Given the description of an element on the screen output the (x, y) to click on. 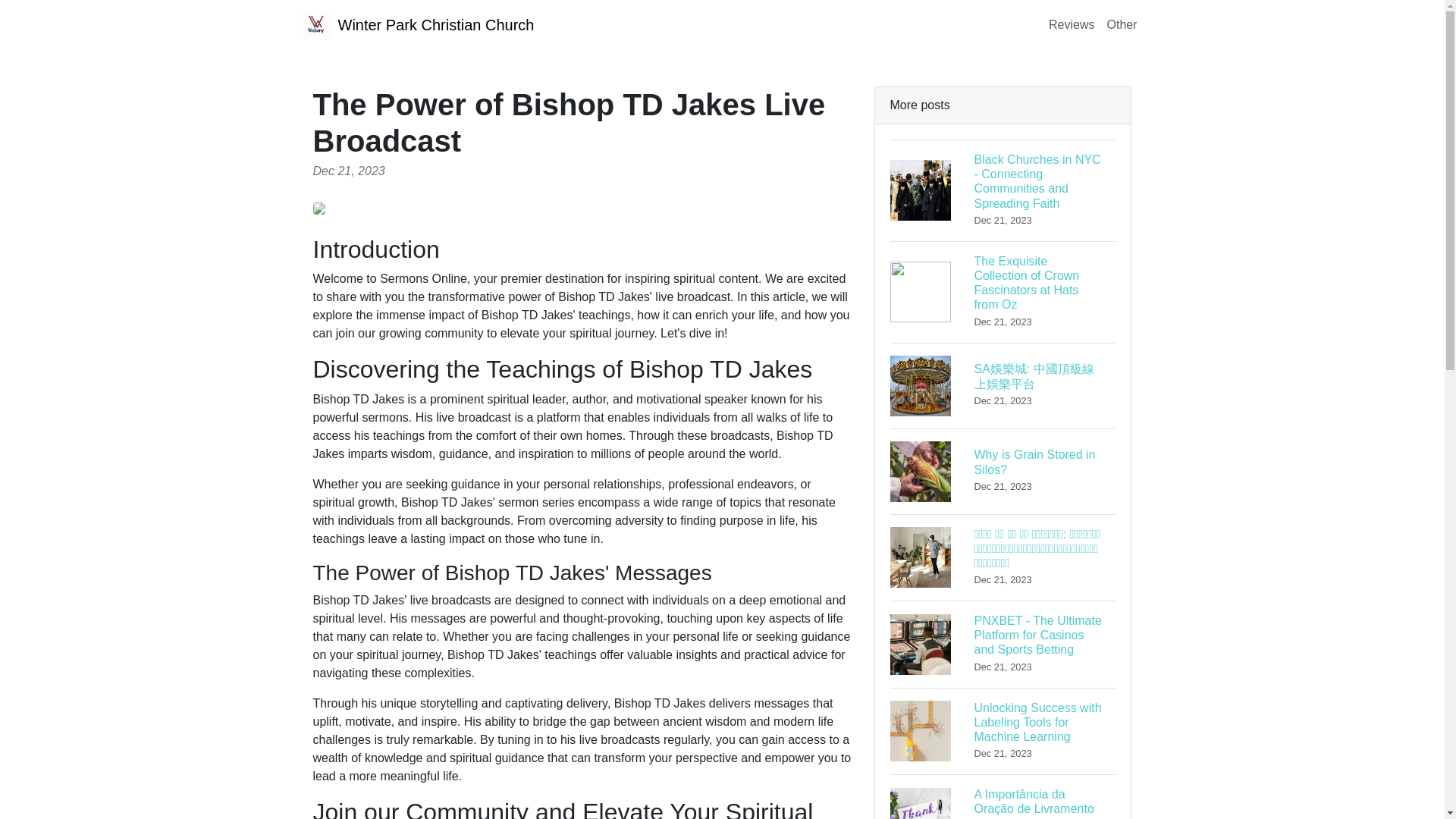
Other (1002, 470)
Winter Park Christian Church (1121, 24)
Reviews (417, 24)
